Given the description of an element on the screen output the (x, y) to click on. 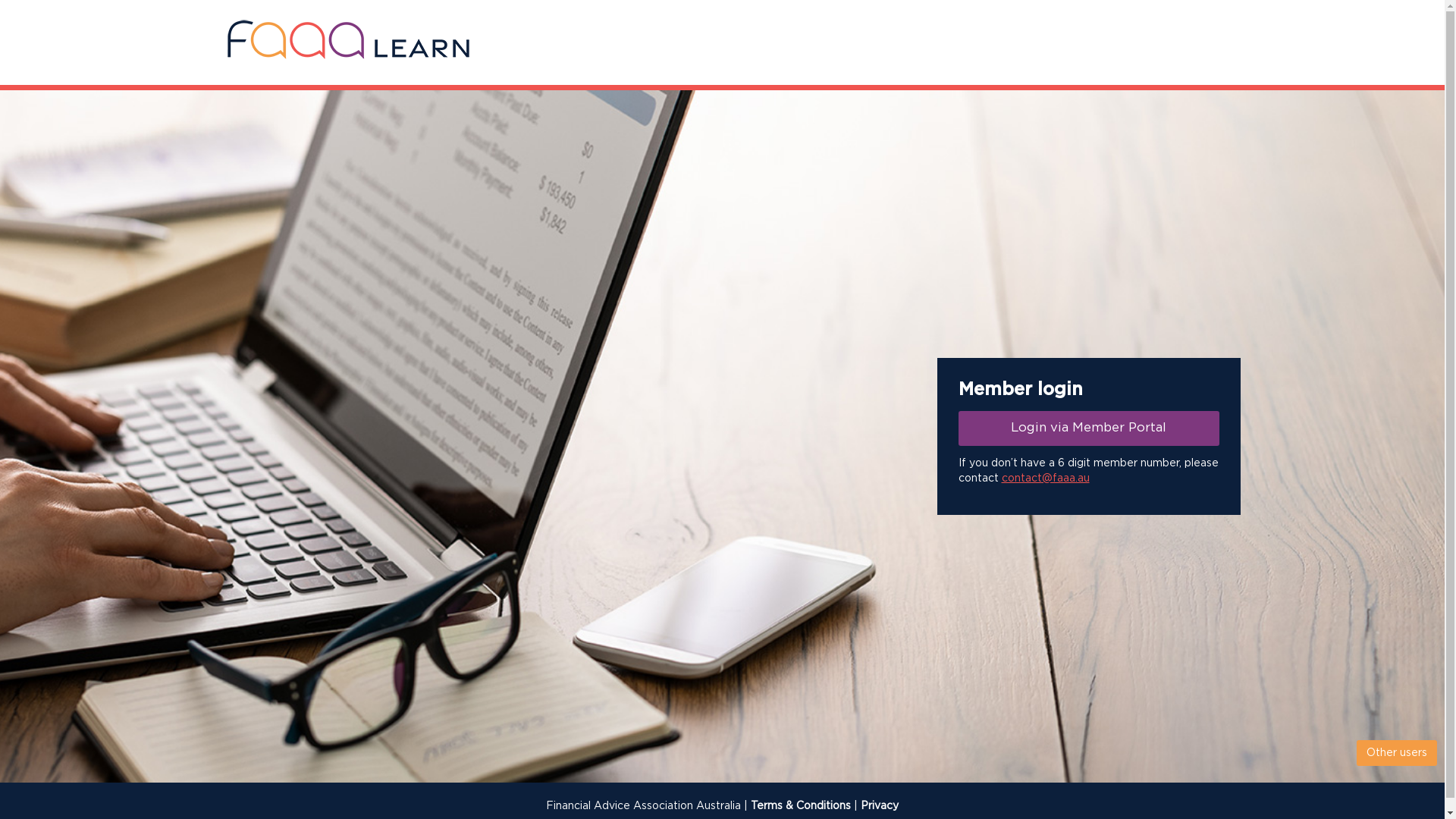
Terms & Conditions Element type: text (800, 805)
contact@faaa.au Element type: text (1044, 478)
Login via Member Portal Element type: text (1088, 428)
FAAA Learn Element type: text (347, 39)
Other users Element type: text (1396, 752)
Privacy Element type: text (879, 805)
